Given the description of an element on the screen output the (x, y) to click on. 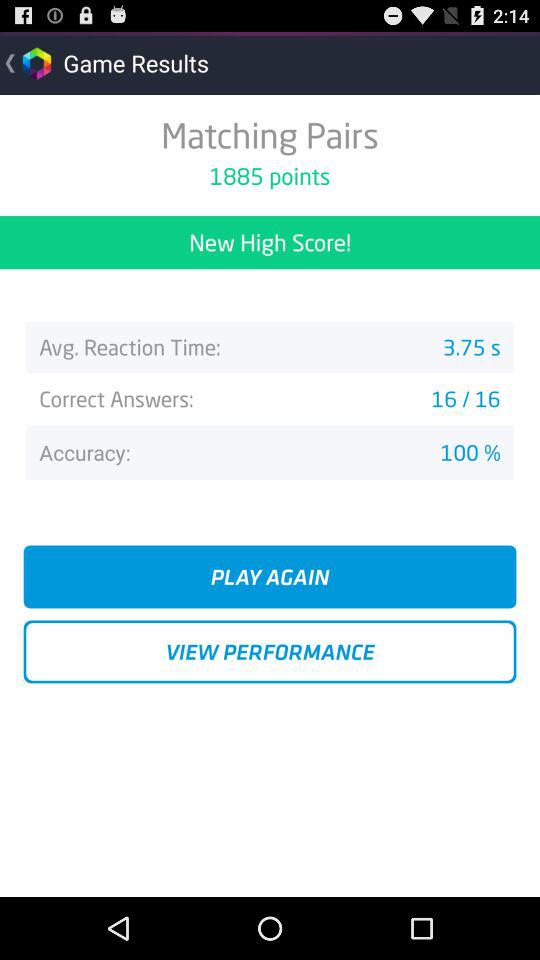
scroll until the play again icon (269, 576)
